Given the description of an element on the screen output the (x, y) to click on. 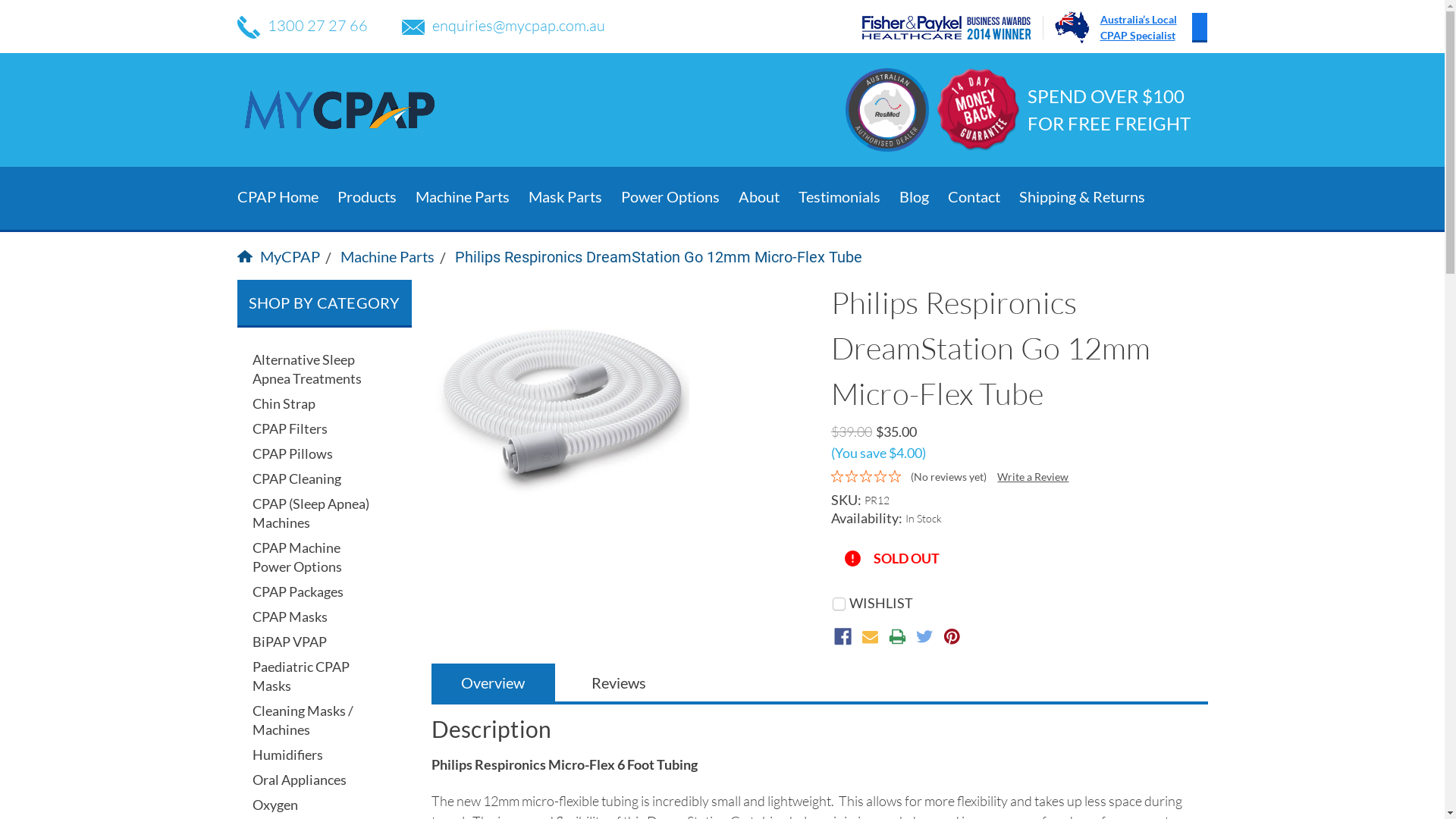
Overview Element type: text (492, 682)
About Element type: text (768, 196)
CPAP Packages Element type: text (310, 591)
Fisher & Paykel Healthcare Element type: hover (951, 26)
enquiries@mycpap.com.au Element type: text (503, 24)
Humidifiers Element type: text (310, 754)
Reviews Element type: text (618, 682)
Benchmark Sleep Services Pty Ltd Element type: hover (338, 109)
Alternative Sleep Apnea Treatments Element type: text (310, 369)
CPAP (Sleep Apnea) Machines Element type: text (310, 513)
Oral Appliances Element type: text (310, 779)
Contact Element type: text (983, 196)
Machine Parts Element type: text (471, 197)
Testimonials Element type: text (847, 196)
Machine Parts Element type: text (386, 256)
Blog Element type: text (923, 196)
Paediatric CPAP Masks Element type: text (310, 676)
Mask Parts Element type: text (573, 197)
MyCPAP Element type: text (277, 256)
Write a Review Element type: text (1032, 476)
1300 27 27 66 Element type: text (301, 24)
Philips Respironics DreamStation Go 12mm Micro-Flex Tube Element type: text (658, 256)
Power Options Element type: text (678, 197)
CPAP Home Element type: text (286, 196)
Products Element type: text (375, 197)
Add to Wishlist Element type: text (855, 598)
CPAP Cleaning Element type: text (310, 478)
CPAP Filters Element type: text (310, 428)
Shipping & Returns Element type: text (1091, 196)
CPAP Machine Power Options Element type: text (310, 557)
BiPAP VPAP Element type: text (310, 641)
CPAP Masks Element type: text (310, 616)
Philips Respironics DreamStation Go 12mm Micro-Flex Tube Element type: hover (562, 410)
Cleaning Masks / Machines Element type: text (310, 720)
CPAP Pillows Element type: text (310, 453)
Chin Strap Element type: text (310, 403)
